Given the description of an element on the screen output the (x, y) to click on. 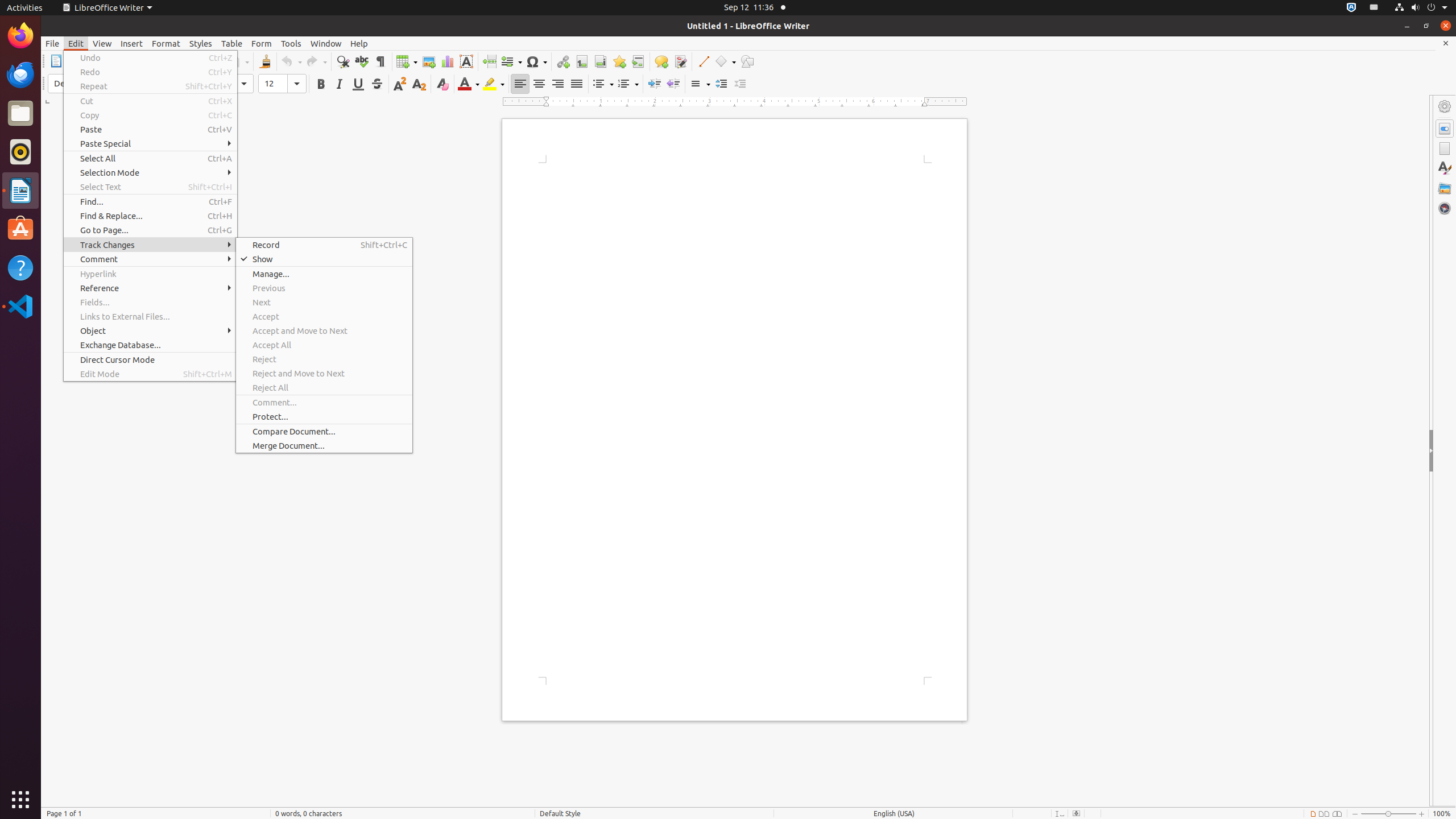
Navigator Element type: radio-button (1444, 208)
Edit Element type: menu (75, 43)
Superscript Element type: toggle-button (399, 83)
Reject Element type: menu-item (324, 359)
Comment Element type: push-button (660, 61)
